Given the description of an element on the screen output the (x, y) to click on. 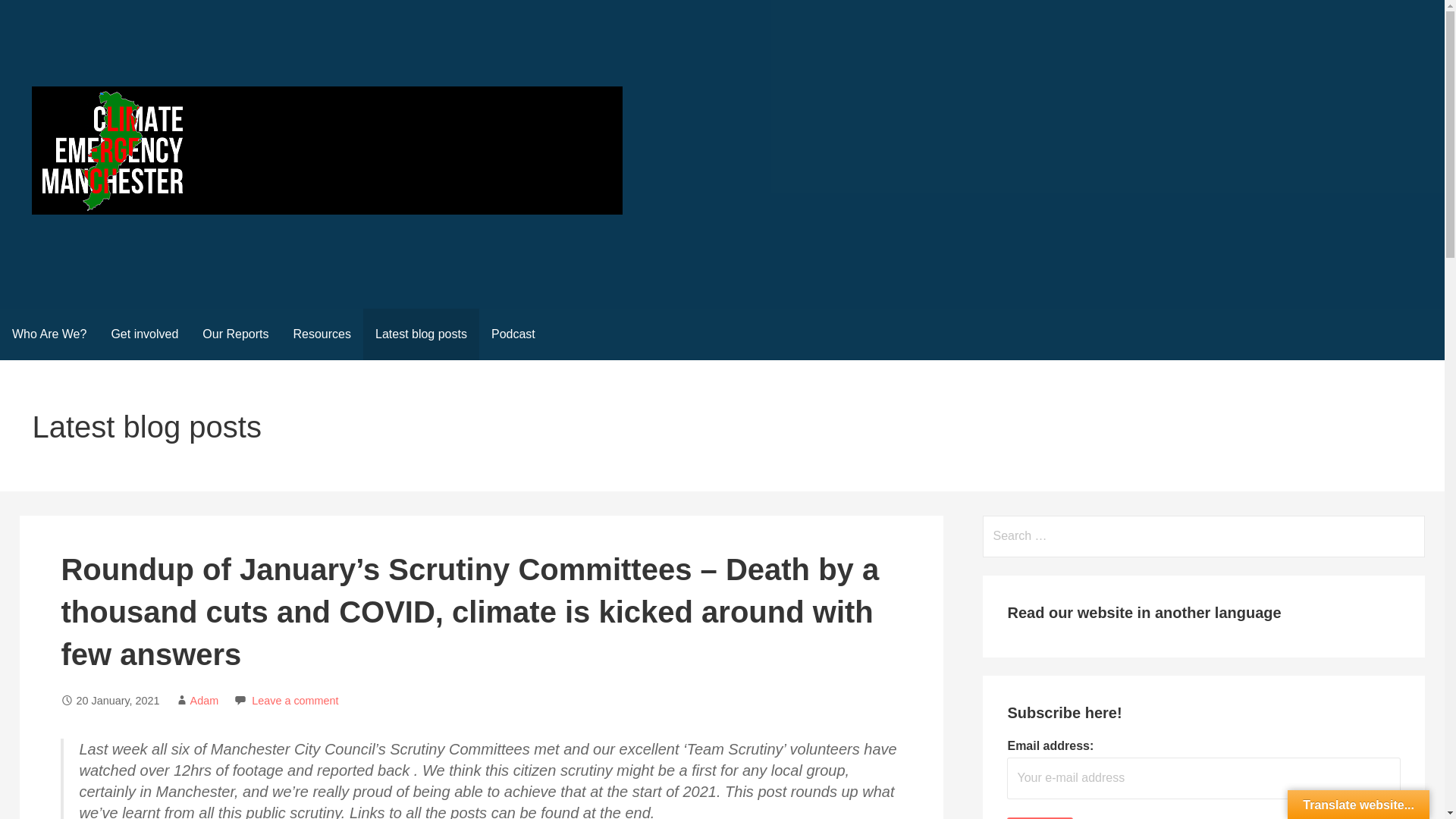
Sign up (1039, 818)
Podcast (513, 333)
Our Reports (235, 333)
Search (31, 15)
Leave a comment (294, 700)
Resources (321, 333)
Sign up (1039, 818)
Who Are We? (49, 333)
Get involved (144, 333)
Adam (204, 700)
